Given the description of an element on the screen output the (x, y) to click on. 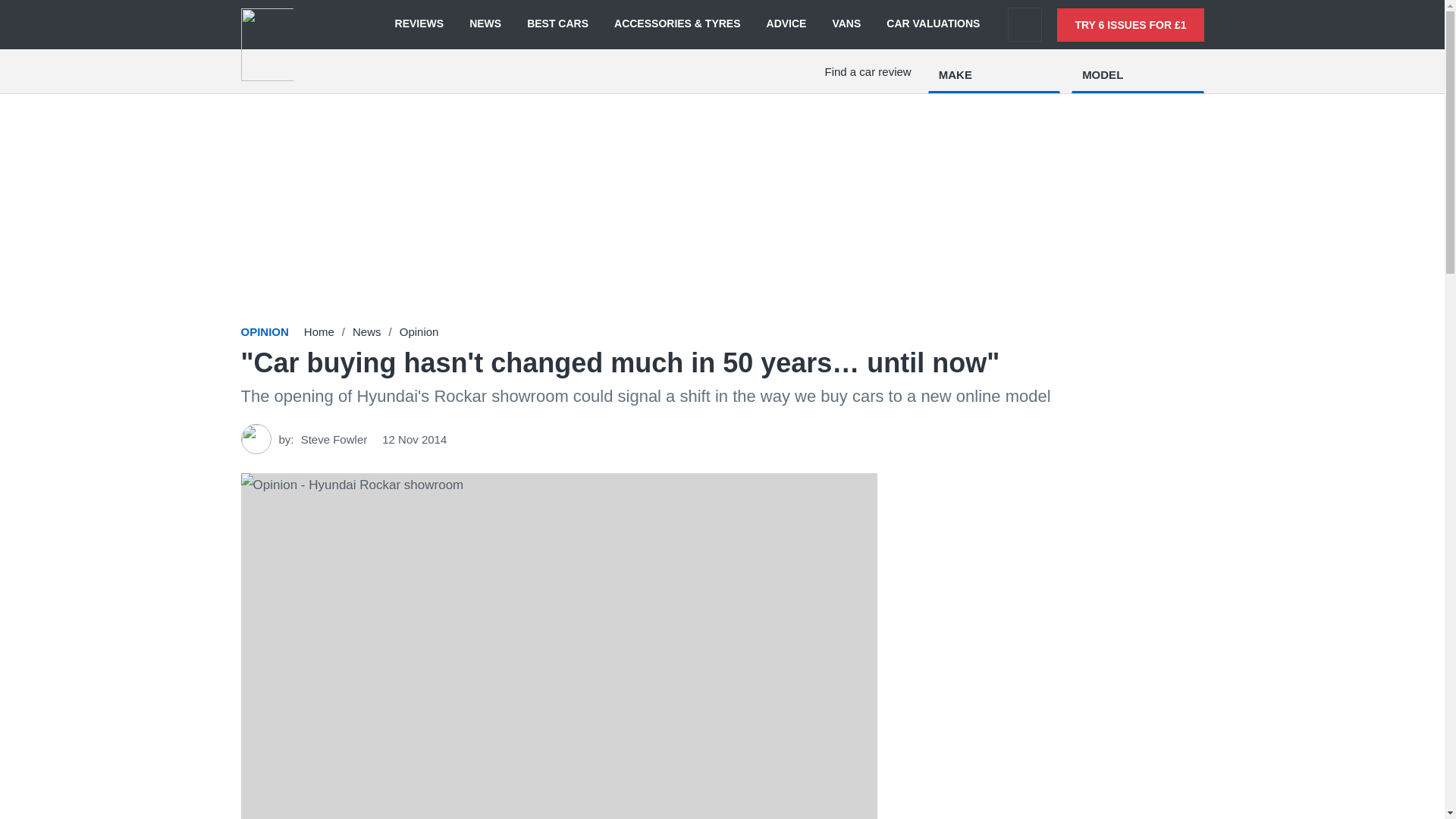
Search (1024, 24)
NEWS (485, 24)
BEST CARS (557, 24)
VANS (845, 24)
REVIEWS (419, 24)
Search (1024, 24)
CAR VALUATIONS (932, 24)
ADVICE (786, 24)
